Given the description of an element on the screen output the (x, y) to click on. 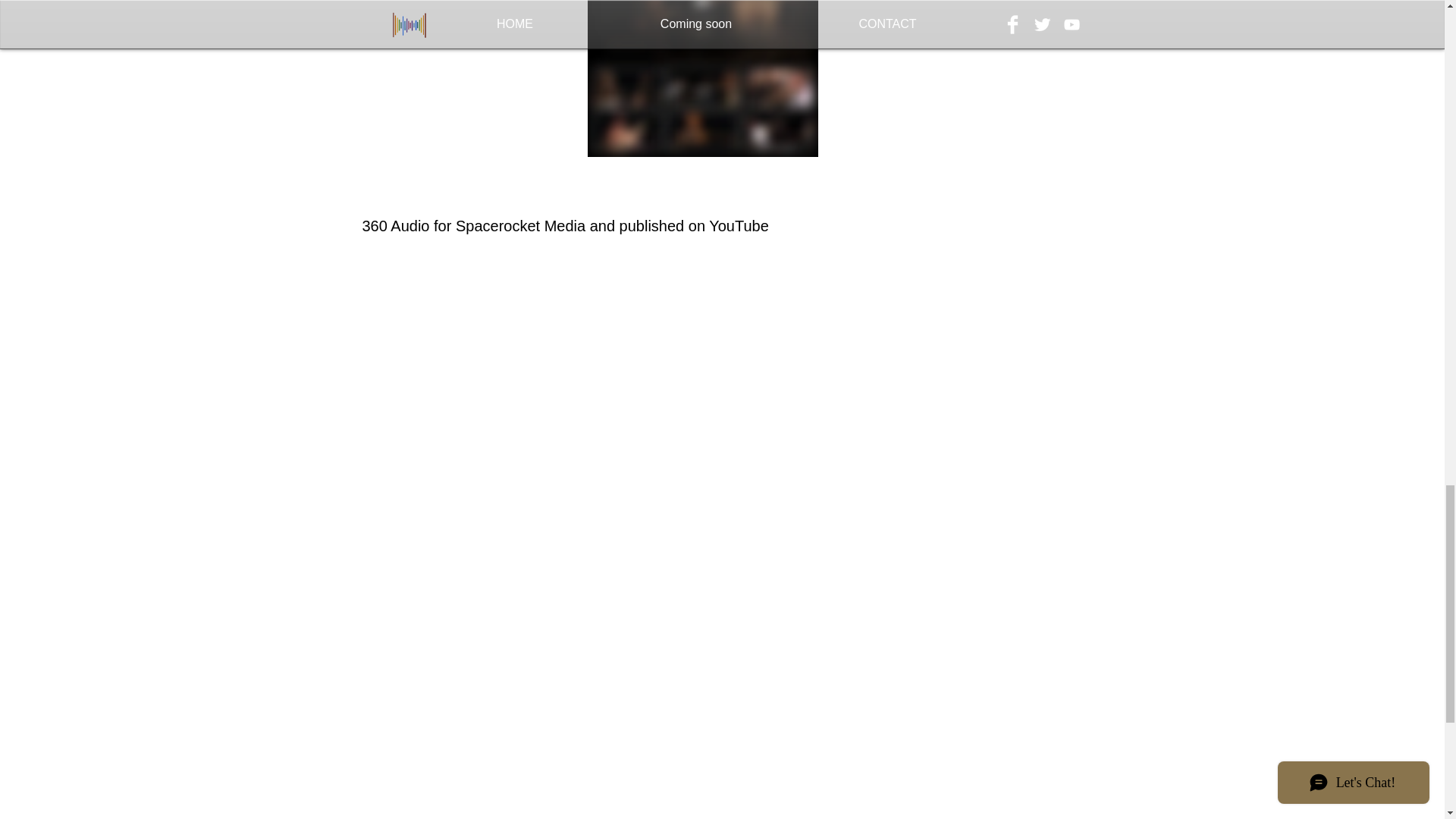
External YouTube (966, 596)
External YouTube (733, 596)
External YouTube (499, 596)
External YouTube (499, 347)
External YouTube (733, 347)
External YouTube (966, 347)
